Given the description of an element on the screen output the (x, y) to click on. 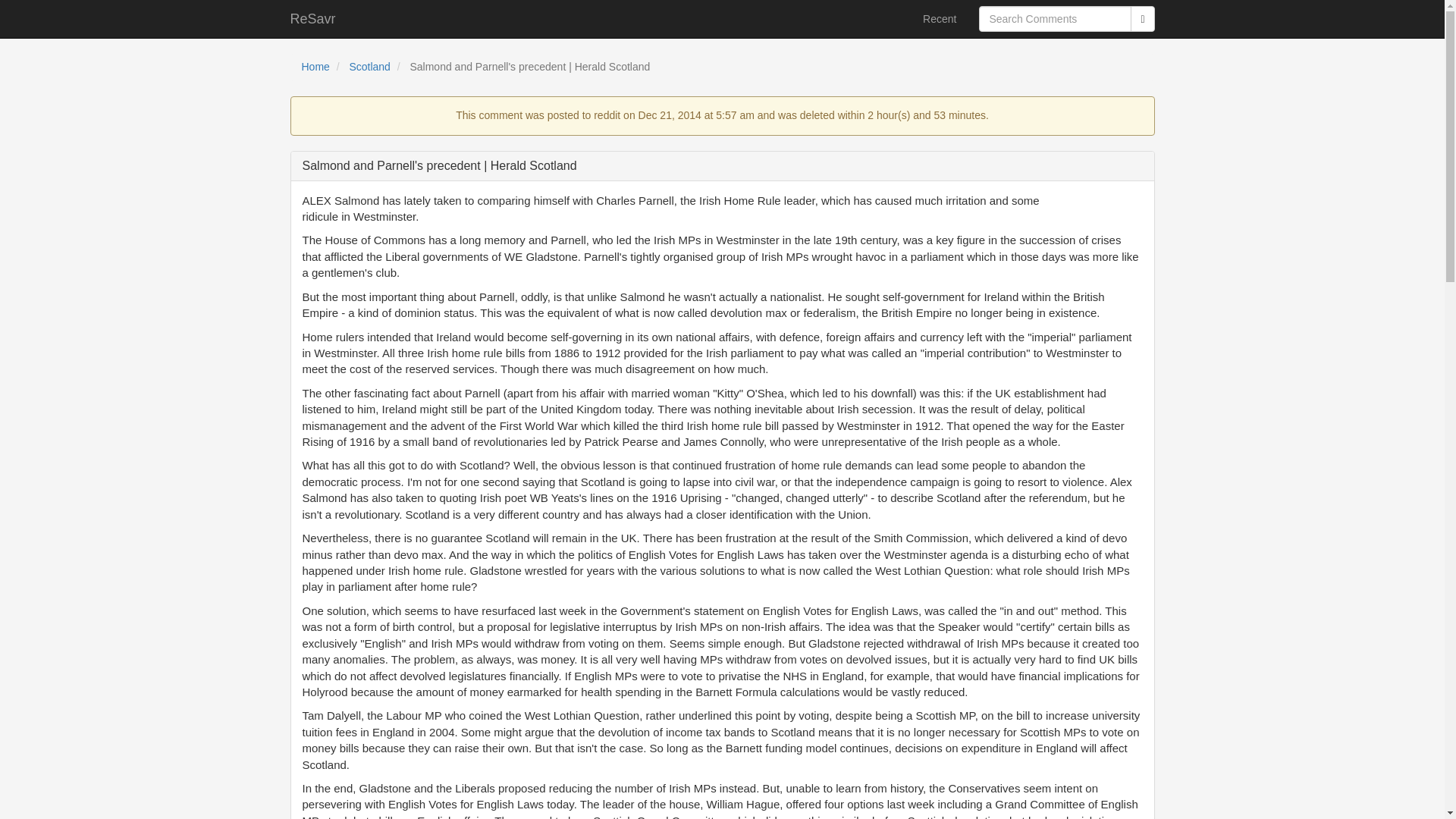
Recent (939, 18)
Scotland (369, 66)
Home (315, 66)
ReSavr (313, 18)
